Given the description of an element on the screen output the (x, y) to click on. 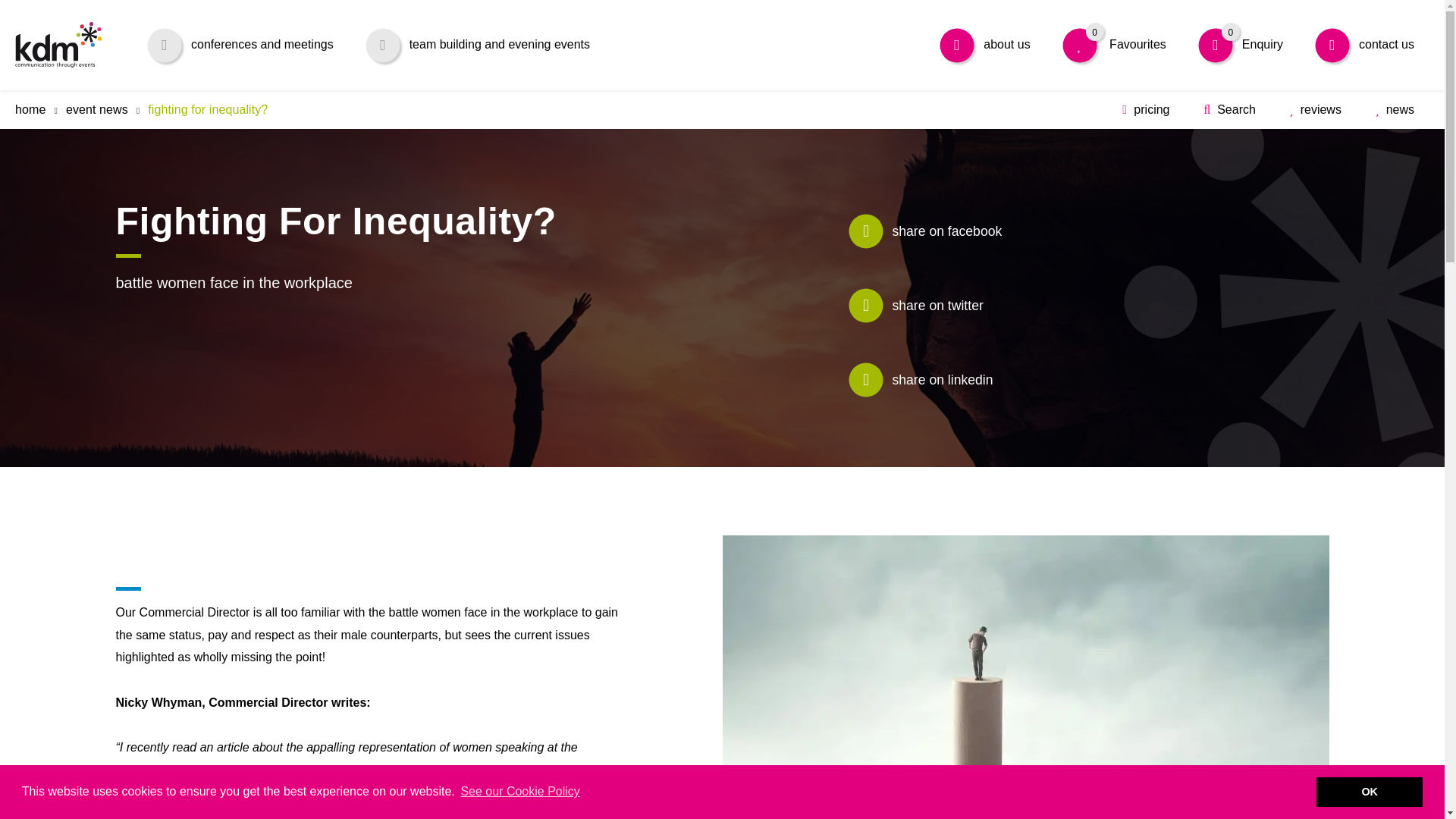
contact us (1363, 44)
OK (1369, 791)
Fighting For Inequality? (207, 109)
Event News (96, 109)
about us (984, 44)
See our Cookie Policy (1239, 44)
Home (1112, 44)
